Given the description of an element on the screen output the (x, y) to click on. 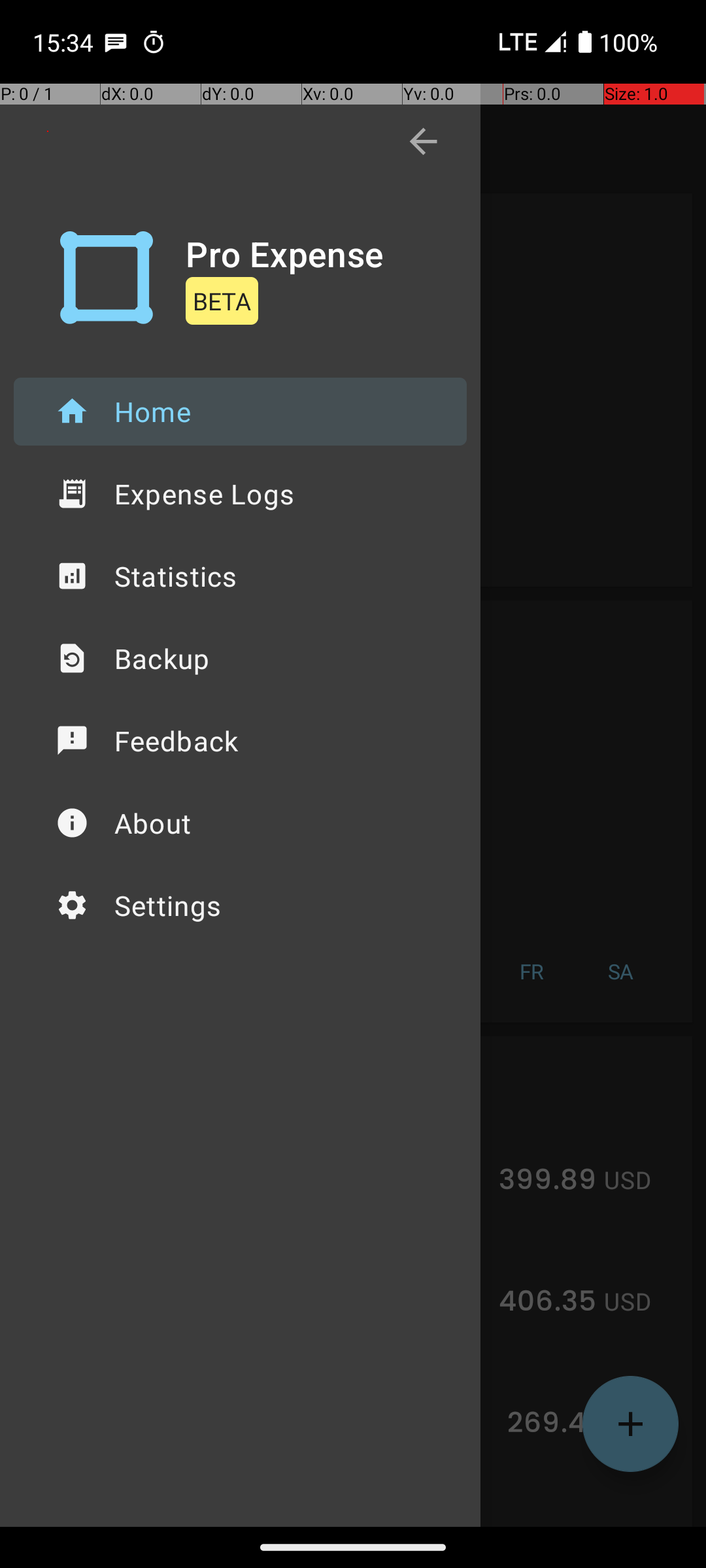
BETA Element type: android.widget.TextView (221, 300)
Statistics Element type: android.widget.CheckedTextView (239, 576)
SMS Messenger notification: +15785288010 Element type: android.widget.ImageView (115, 41)
